Given the description of an element on the screen output the (x, y) to click on. 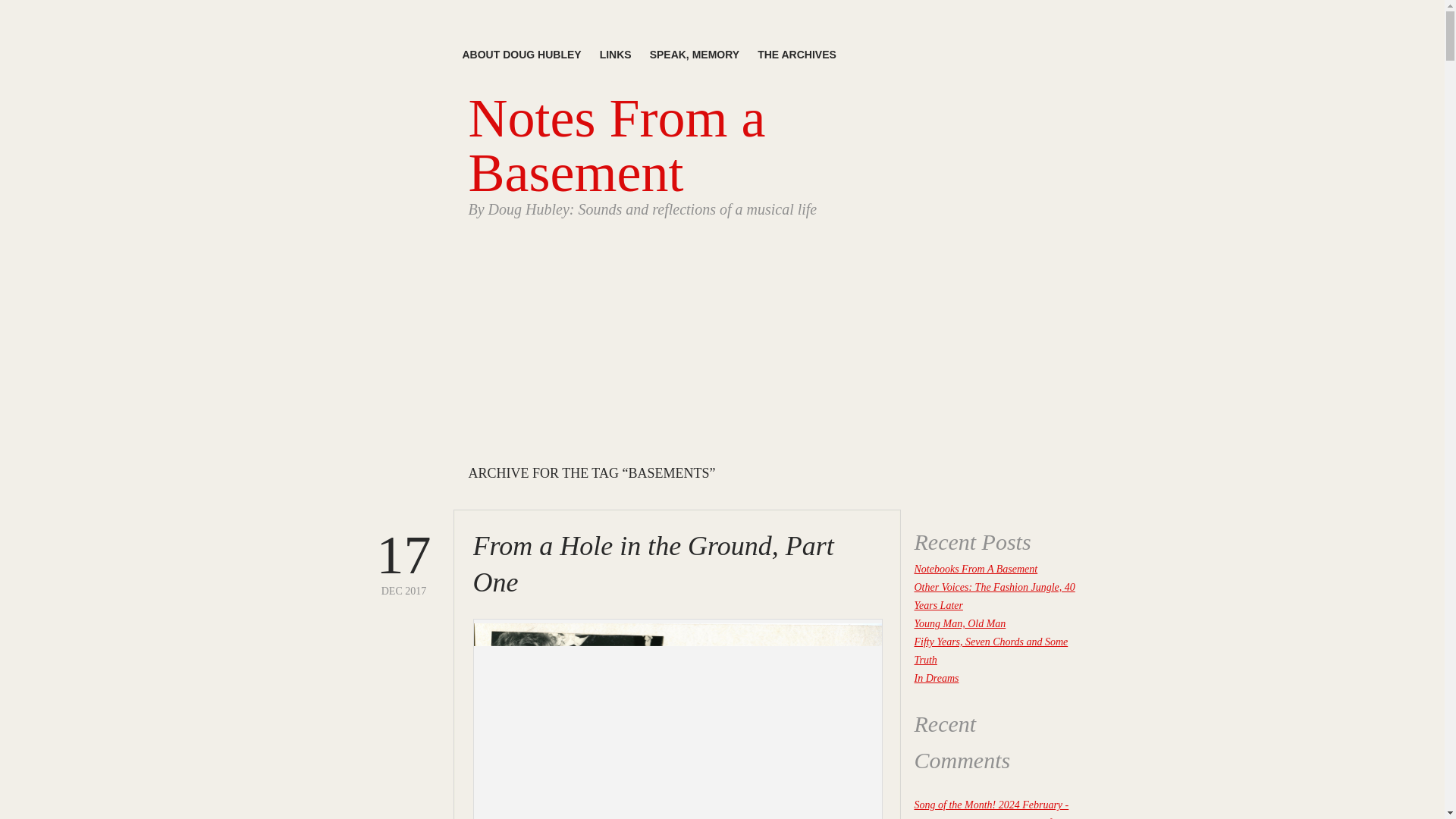
Permalink to From a Hole in the Ground, Part One (403, 562)
THE ARCHIVES (796, 54)
Notes From a Basement (616, 145)
ABOUT DOUG HUBLEY (521, 54)
LINKS (615, 54)
Permalink to From a Hole in the Ground, Part One (653, 563)
Search (930, 507)
SPEAK, MEMORY (403, 562)
From a Hole in the Ground, Part One (694, 54)
